Given the description of an element on the screen output the (x, y) to click on. 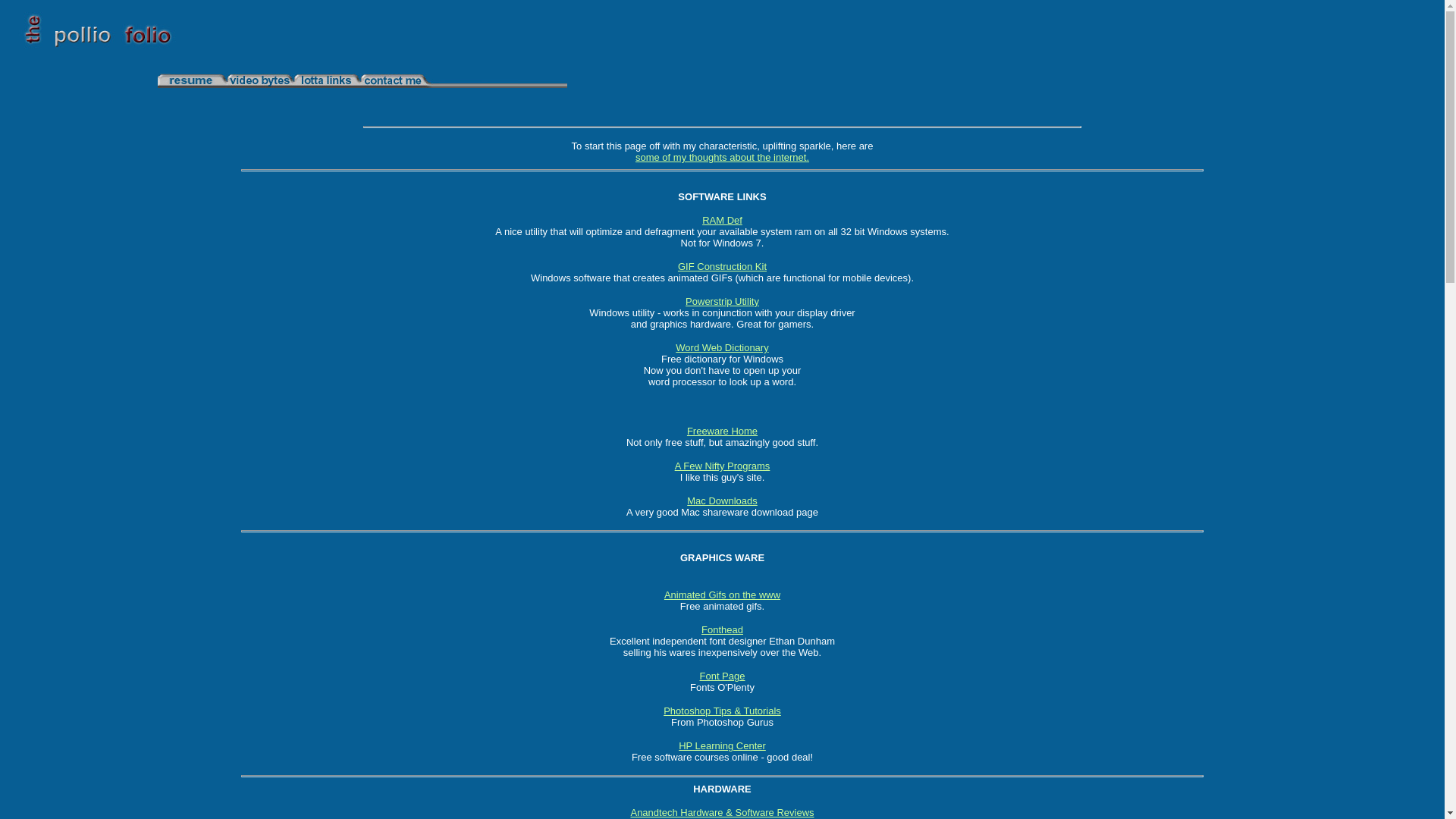
Font Page Element type: text (721, 675)
Animated Gifs on the www Element type: text (722, 594)
some of my thoughts about the internet. Element type: text (722, 157)
Powerstrip Utility Element type: text (722, 301)
Anandtech Hardware & Software Reviews Element type: text (721, 812)
A Few Nifty Programs Element type: text (722, 464)
Photoshop Tips & Tutorials Element type: text (722, 710)
HP Learning Center Element type: text (721, 745)
Word Web Dictionary Element type: text (721, 347)
GIF Construction Kit Element type: text (721, 266)
Fonthead Element type: text (722, 629)
RAM Def Element type: text (722, 219)
Freeware Home Element type: text (722, 430)
Mac Downloads Element type: text (722, 500)
